Given the description of an element on the screen output the (x, y) to click on. 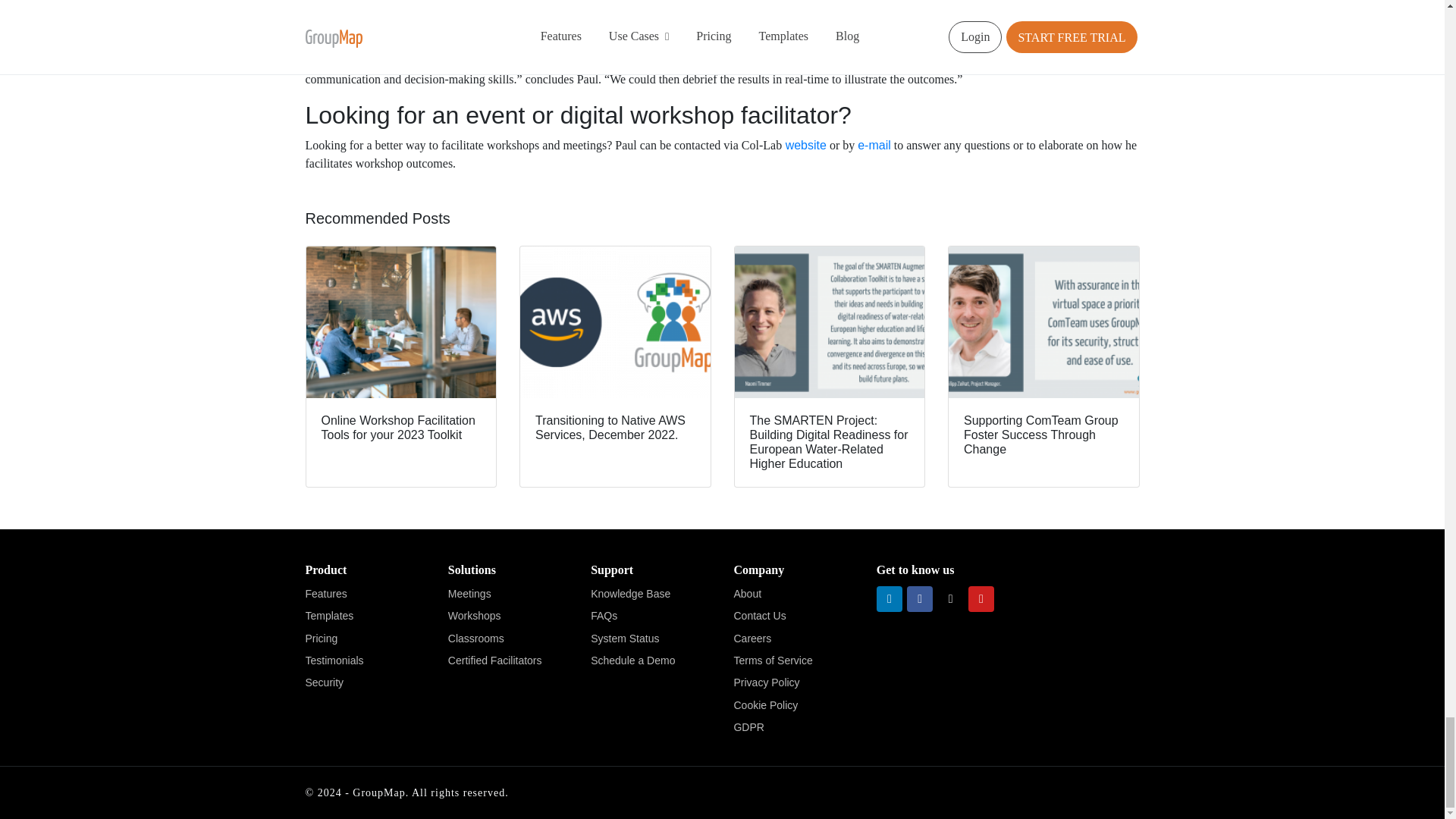
Pricing (364, 638)
Security (364, 682)
website (804, 144)
Features (364, 593)
Templates (364, 616)
e-mail (874, 144)
Meetings (507, 593)
Workshops (507, 616)
Testimonials (364, 660)
Certified Facilitators (507, 660)
Classrooms (507, 638)
